Given the description of an element on the screen output the (x, y) to click on. 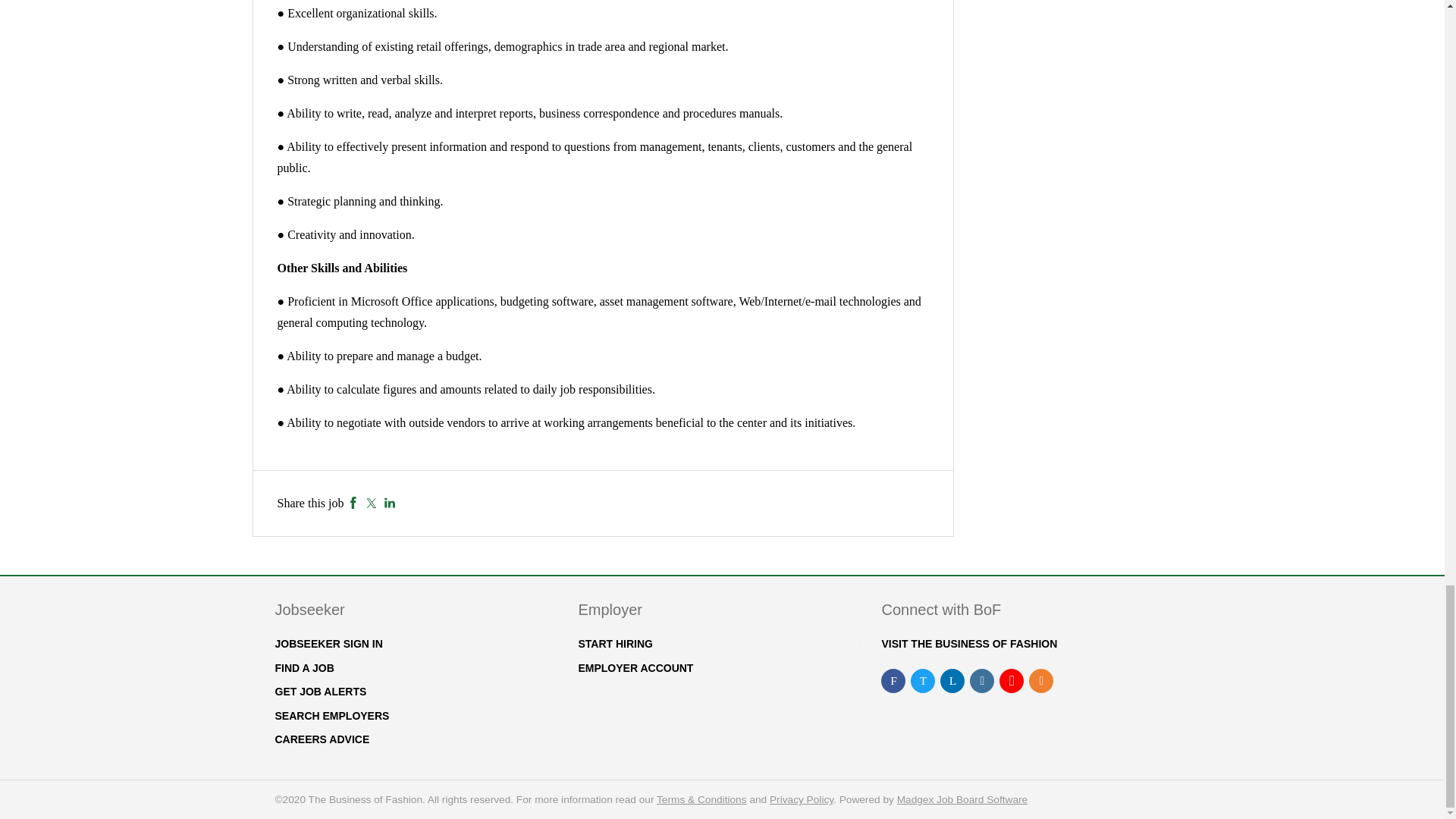
SEARCH EMPLOYERS (331, 715)
FIND A JOB (304, 667)
LinkedIn (390, 502)
JOBSEEKER SIGN IN (328, 644)
CAREERS ADVICE (322, 739)
Twitter (371, 502)
VISIT THE BUSINESS OF FASHION (968, 644)
START HIRING (615, 644)
EMPLOYER ACCOUNT (635, 667)
Facebook (353, 502)
